Given the description of an element on the screen output the (x, y) to click on. 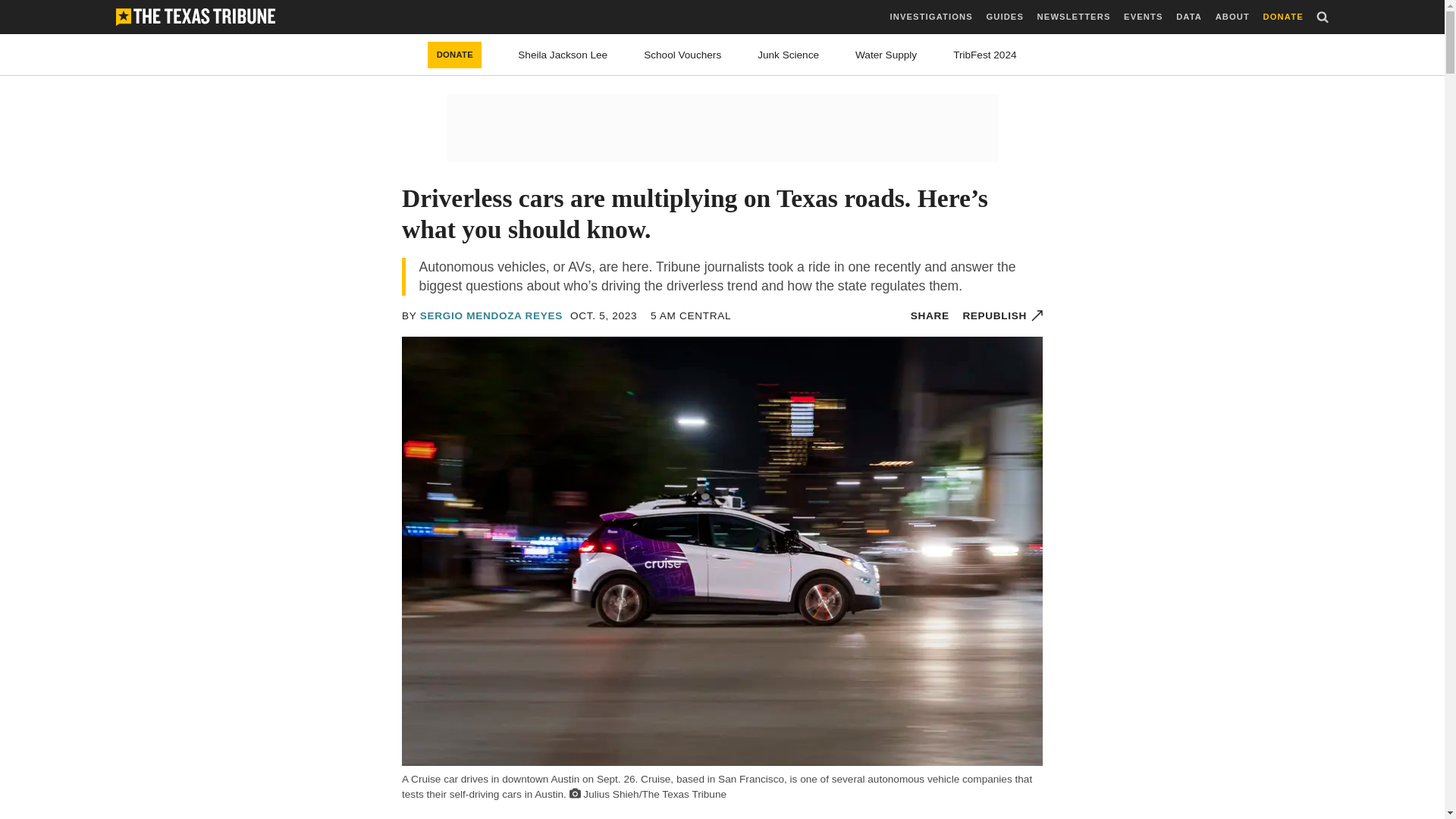
DONATE (1283, 17)
ABOUT (1232, 17)
EVENTS (1142, 17)
School Vouchers (681, 54)
DONATE (454, 54)
INVESTIGATIONS (930, 17)
TribFest 2024 (984, 54)
Sheila Jackson Lee (562, 54)
NEWSLETTERS (1073, 17)
2023-10-05 05:00 CDT (603, 315)
Junk Science (787, 54)
GUIDES (1004, 17)
REPUBLISH (1002, 315)
2023-10-05 05:00 CDT (690, 315)
SERGIO MENDOZA REYES (491, 315)
